Given the description of an element on the screen output the (x, y) to click on. 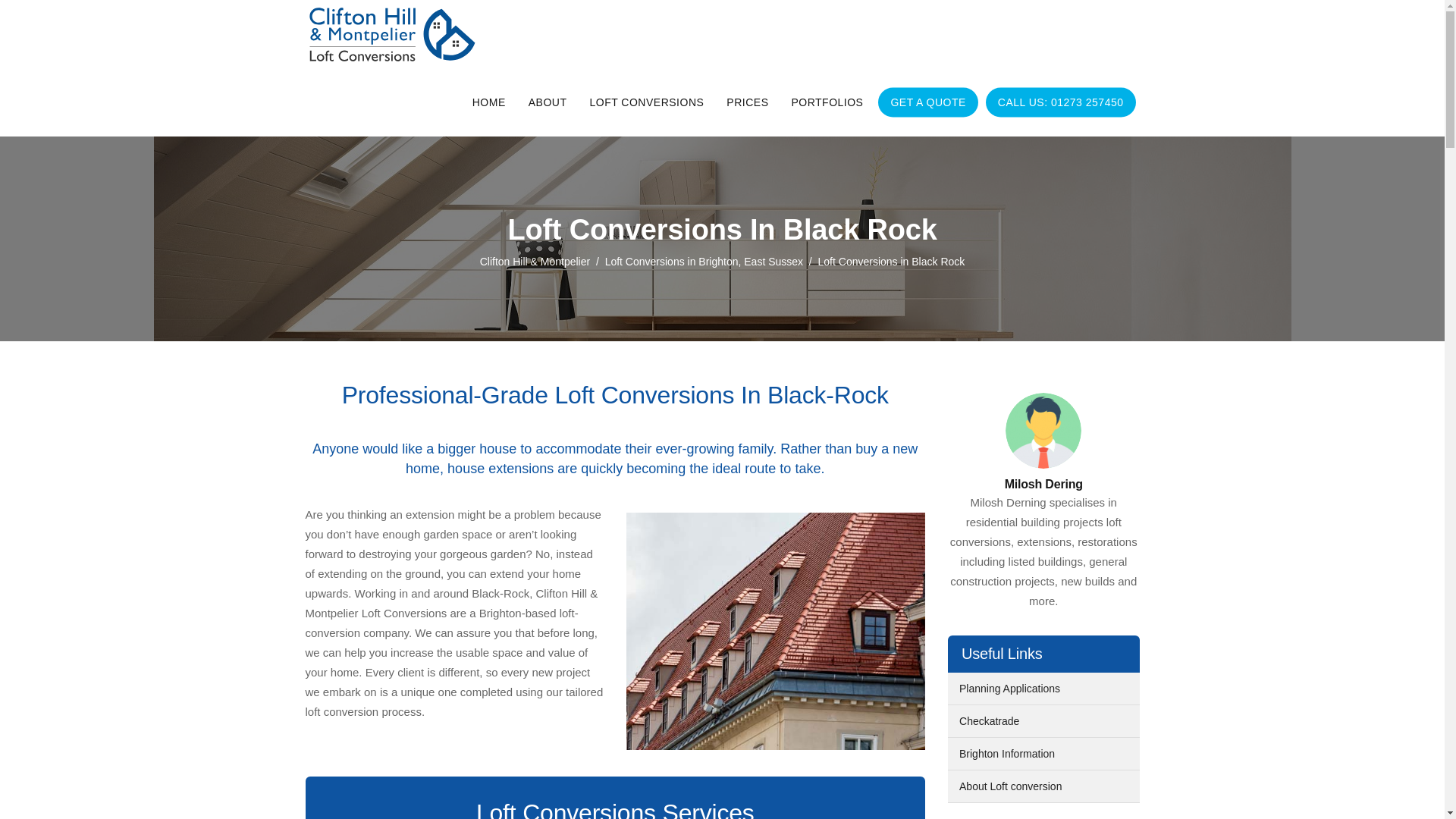
CALL US: 01273 257450 (1060, 101)
GET A QUOTE (928, 101)
PRICES (746, 101)
Loft Conversions in Brighton, East Sussex (704, 261)
LOFT CONVERSIONS (646, 101)
PORTFOLIOS (826, 101)
ABOUT (547, 101)
